Given the description of an element on the screen output the (x, y) to click on. 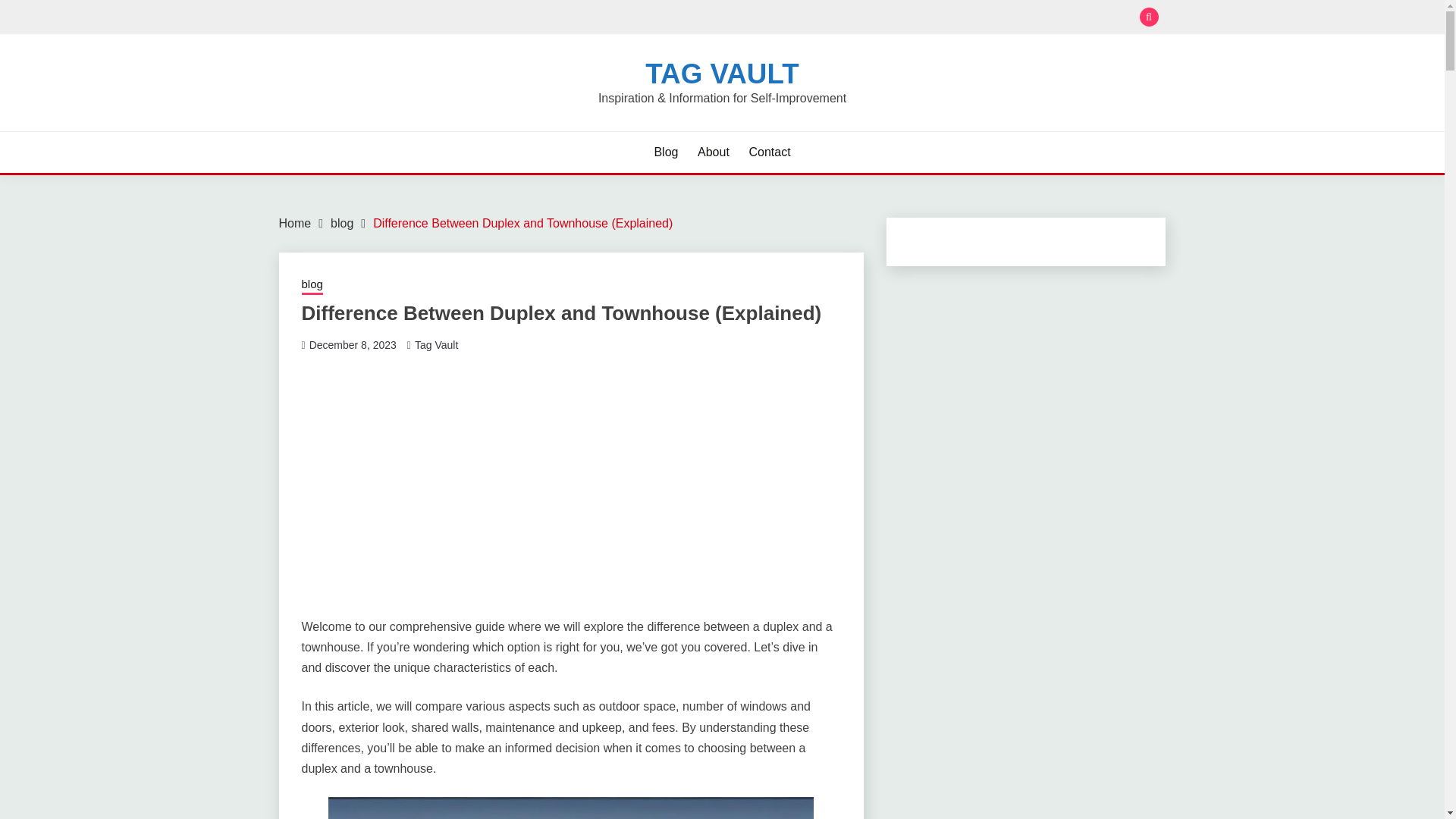
Home (295, 223)
About (713, 152)
blog (341, 223)
Blog (665, 152)
Contact (769, 152)
TAG VAULT (721, 73)
Tag Vault (436, 345)
December 8, 2023 (352, 345)
Search (832, 18)
blog (312, 285)
